Given the description of an element on the screen output the (x, y) to click on. 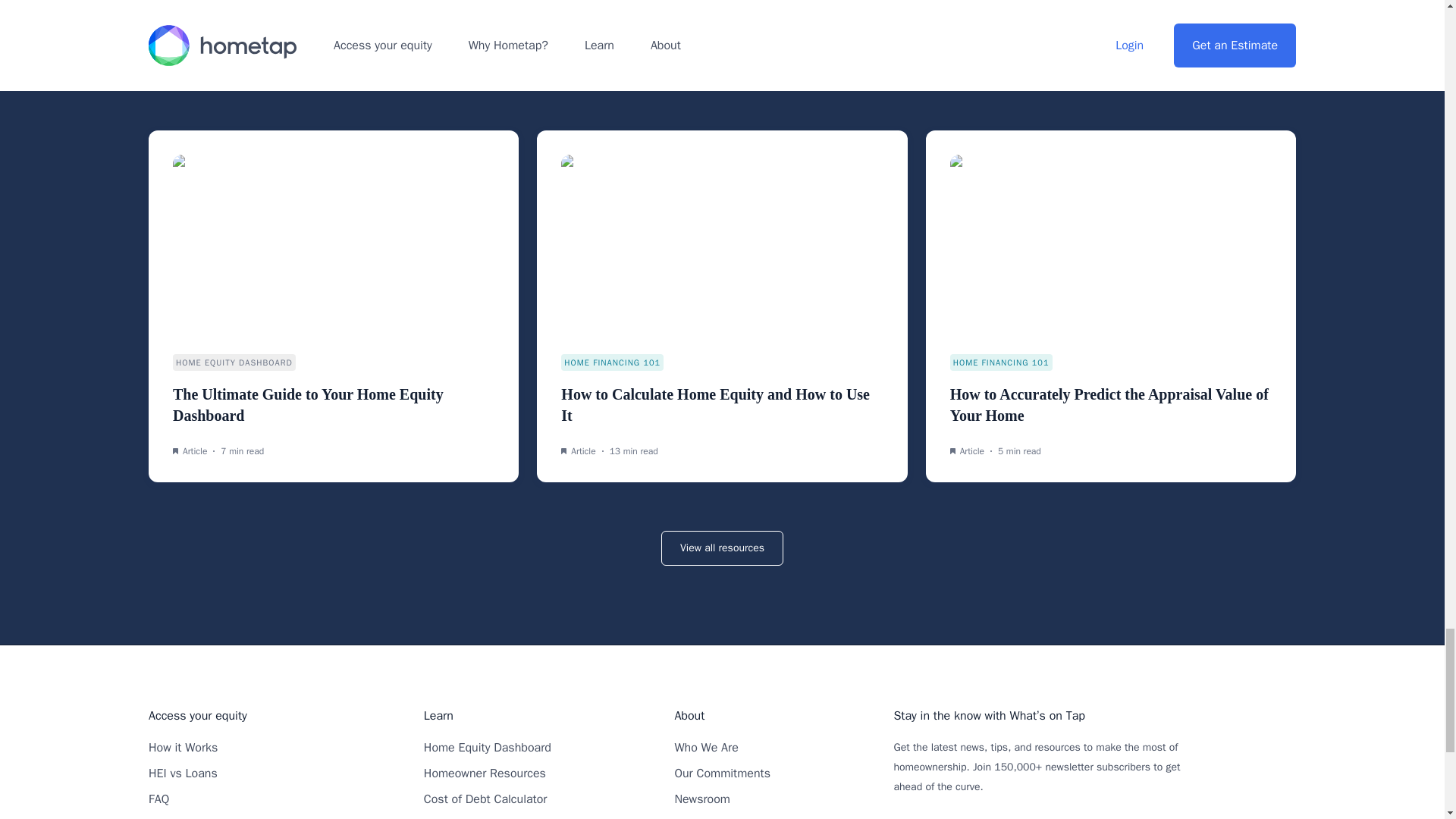
Cost of Debt Calculator (485, 798)
View all resources (722, 547)
How it Works (182, 747)
Careers (694, 818)
HEI vs Loans (182, 773)
Glossary (445, 818)
FAQ (158, 798)
Our Commitments (722, 773)
Homeowner Resources (484, 773)
Newsroom (702, 798)
Home Equity Dashboard (487, 747)
Who We Are (706, 747)
